Given the description of an element on the screen output the (x, y) to click on. 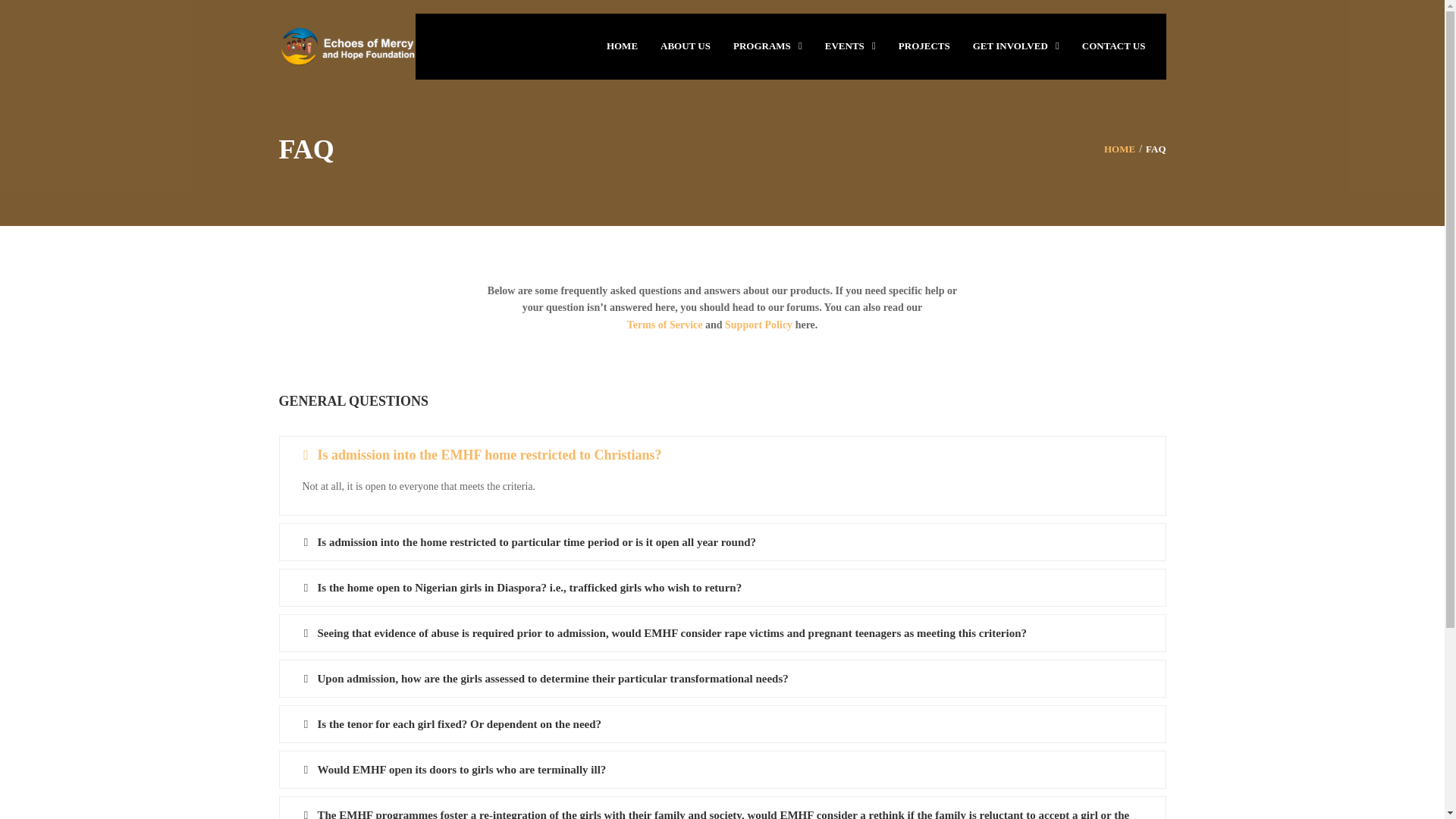
Is admission into the EMHF home restricted to Christians? (722, 454)
PROJECTS (923, 44)
ABOUT US (685, 44)
Home (1119, 148)
Terms of Service (665, 324)
Support Policy (758, 324)
GET INVOLVED (1004, 44)
PROGRAMS (756, 44)
CONTACT US (1113, 44)
HOME (1119, 148)
